Given the description of an element on the screen output the (x, y) to click on. 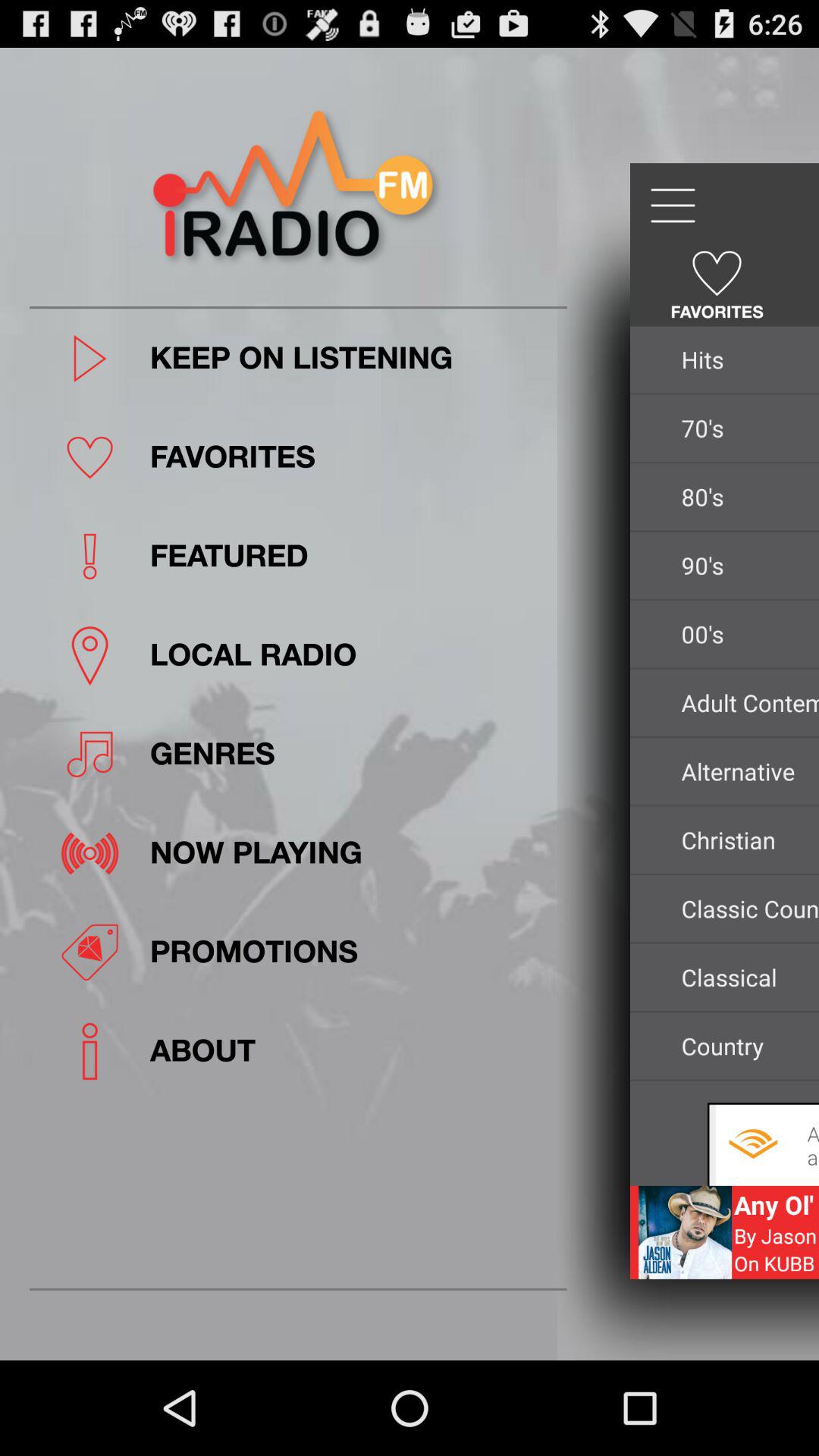
launch icon to the right of keep on listening icon (745, 359)
